Given the description of an element on the screen output the (x, y) to click on. 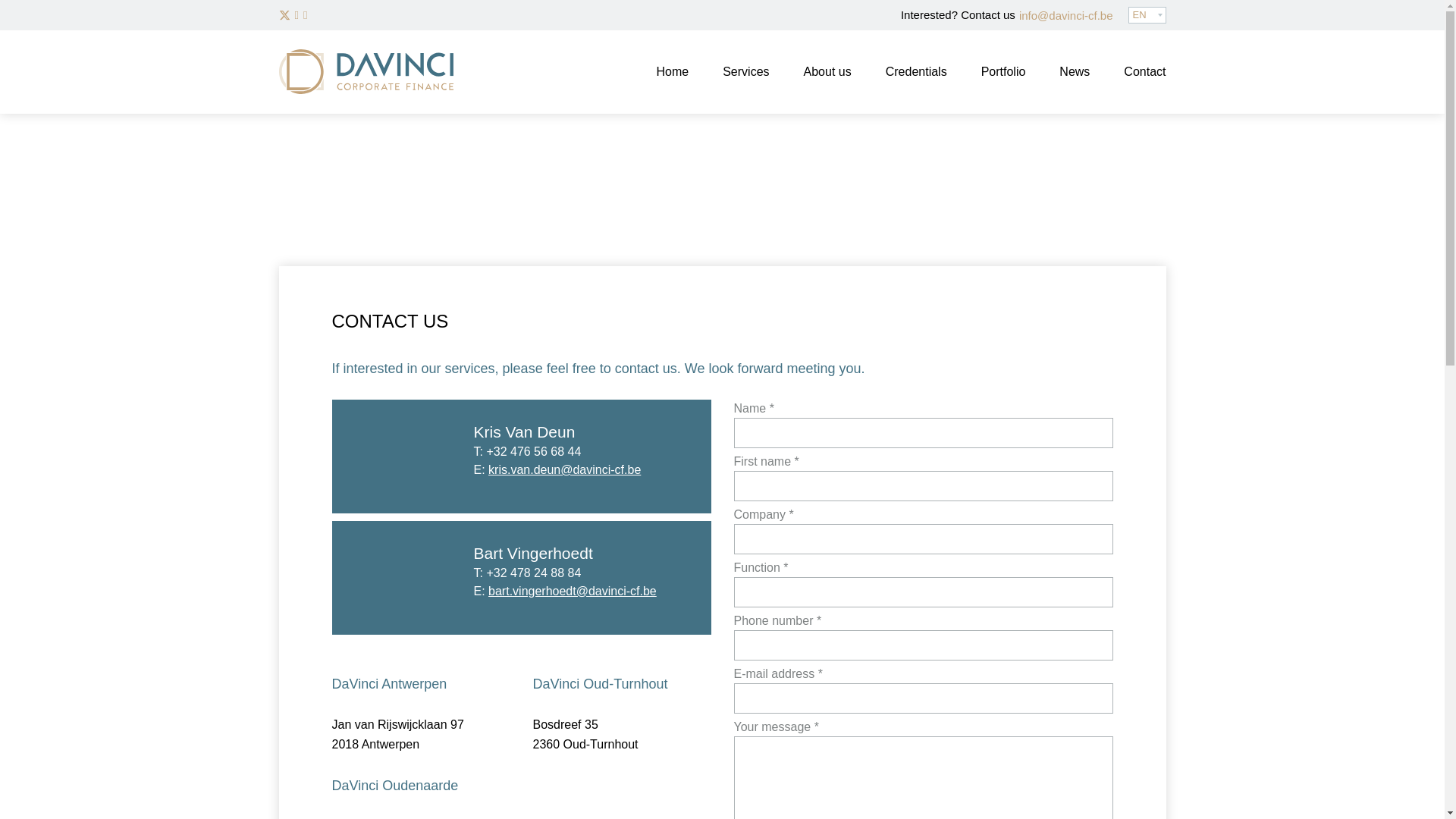
Services Element type: text (745, 71)
Contact Element type: text (1144, 71)
Portfolio Element type: text (1003, 71)
Credentials Element type: text (916, 71)
Home Element type: text (671, 71)
News Element type: text (1074, 71)
About us Element type: text (827, 71)
info@davinci-cf.be Element type: text (1066, 15)
bart.vingerhoedt@davinci-cf.be Element type: text (572, 590)
kris.van.deun@davinci-cf.be Element type: text (564, 469)
